Given the description of an element on the screen output the (x, y) to click on. 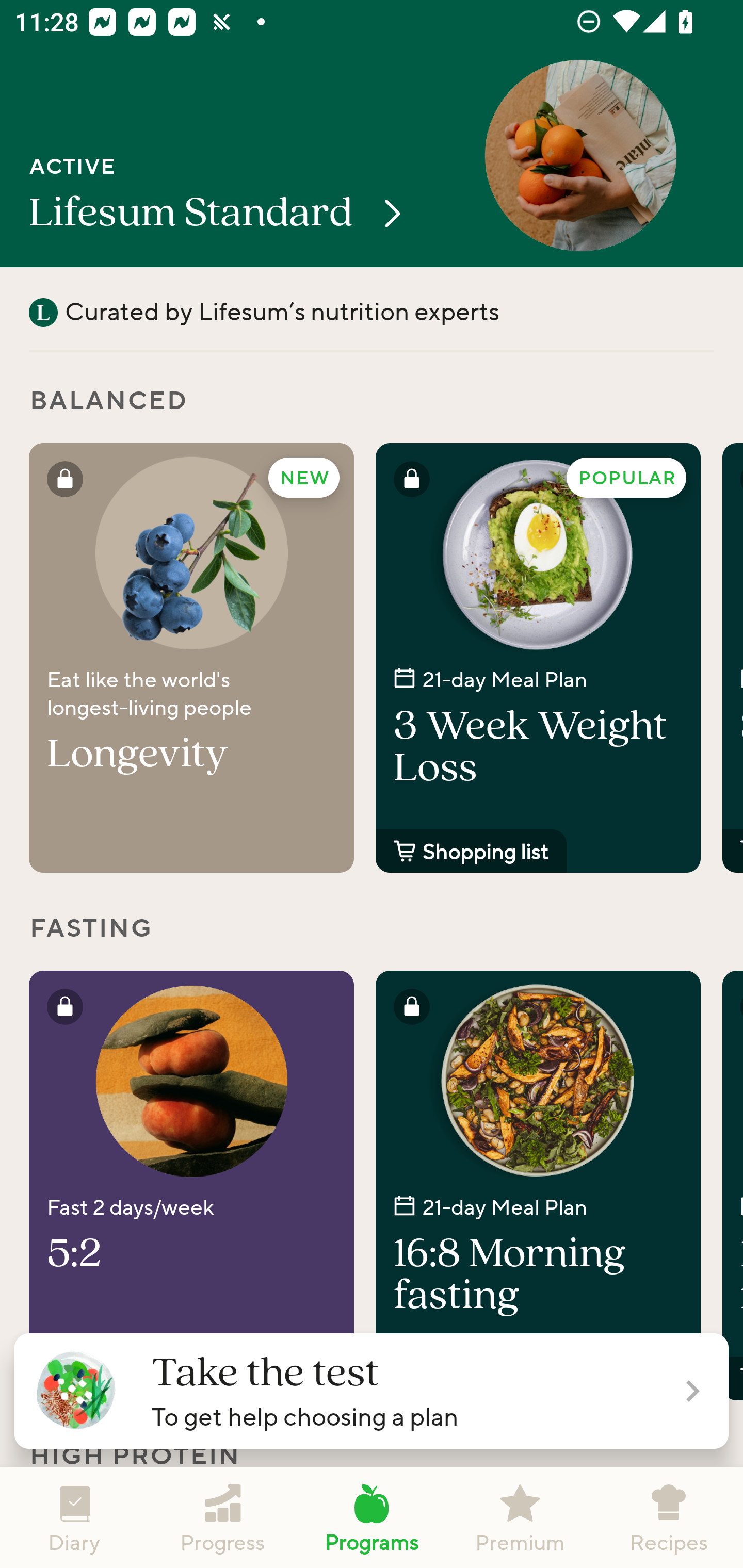
Fast 2 days/week 5:2 (190, 1185)
Take the test To get help choosing a plan (371, 1390)
Diary (74, 1517)
Progress (222, 1517)
Premium (519, 1517)
Recipes (668, 1517)
